Given the description of an element on the screen output the (x, y) to click on. 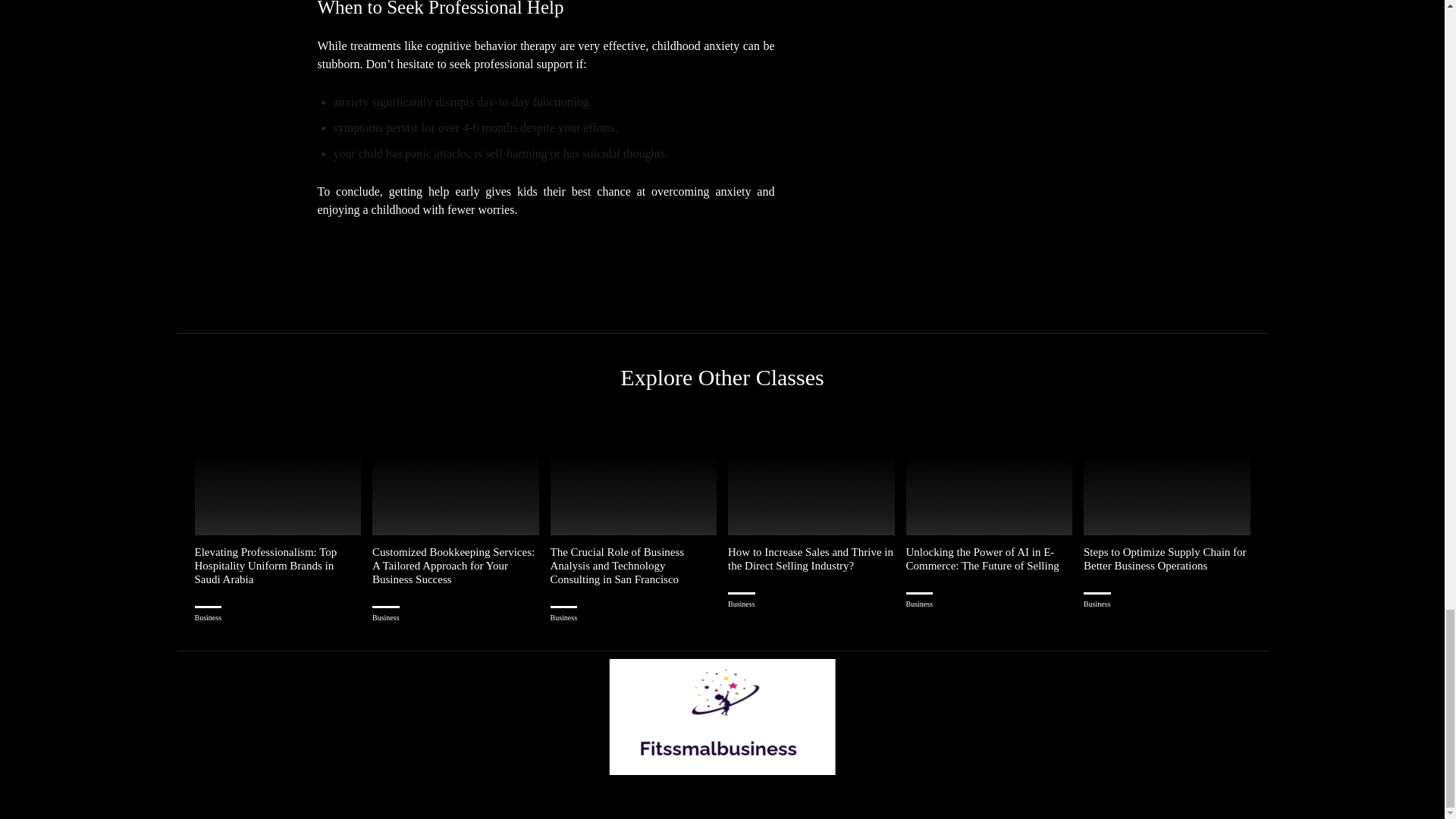
Business (207, 617)
